Given the description of an element on the screen output the (x, y) to click on. 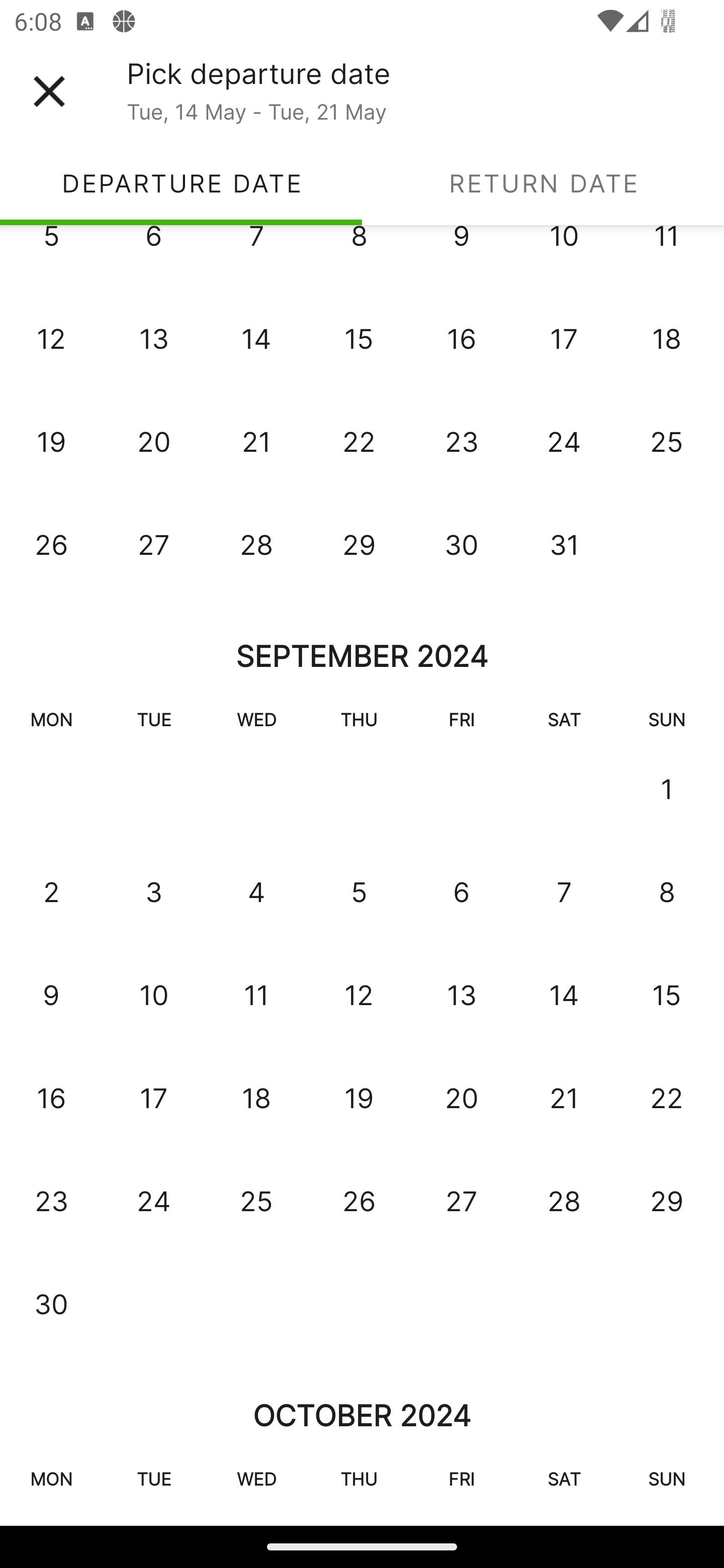
Return Date RETURN DATE (543, 183)
